Given the description of an element on the screen output the (x, y) to click on. 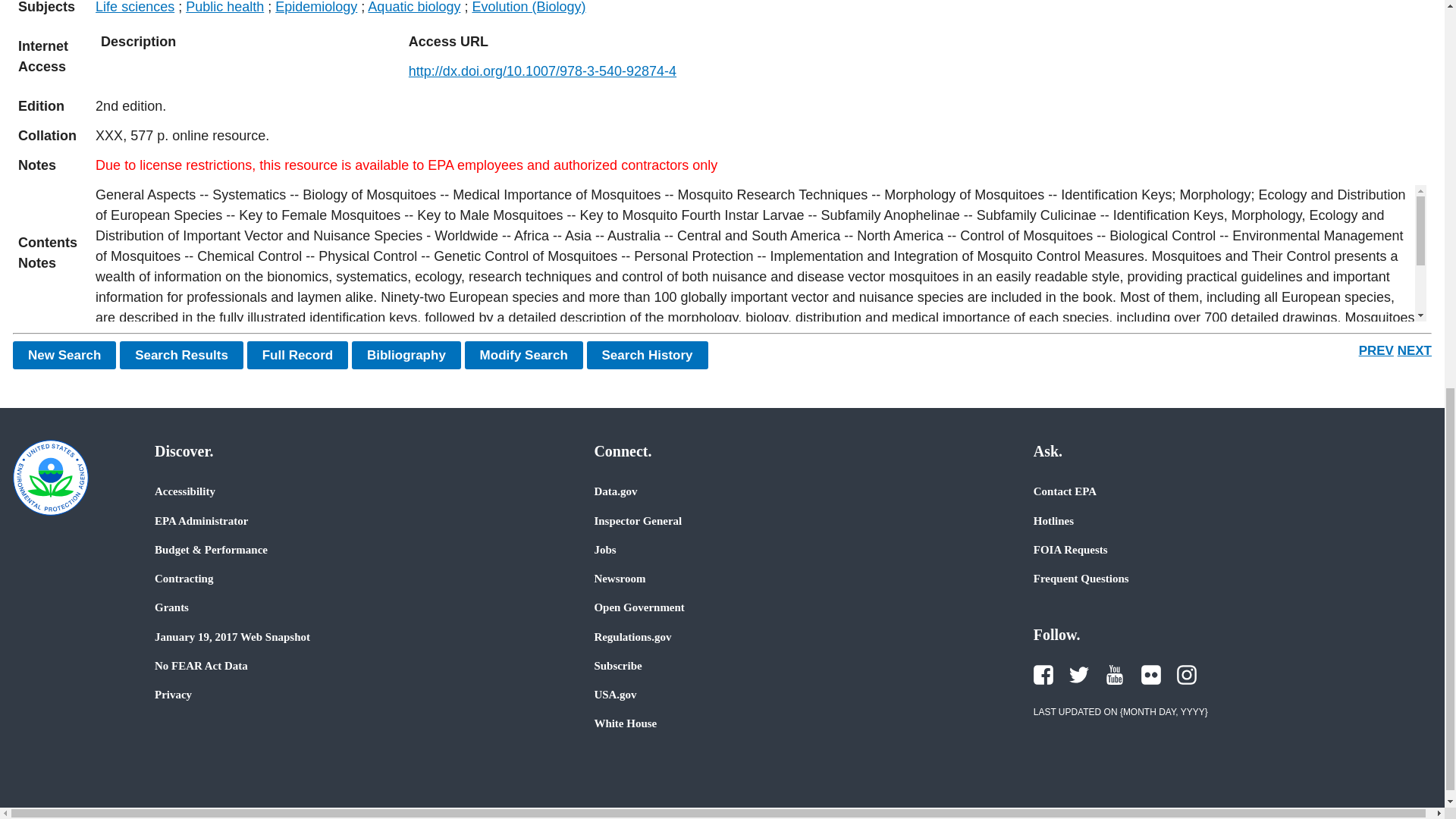
Show results in standard format (181, 355)
Contracting (183, 578)
full length text available by clicking full record (761, 165)
January 19, 2017 Web Snapshot (232, 636)
Bibliography (406, 355)
EPA Administrator (200, 520)
Create a New Search (64, 355)
Aquatic biology (414, 7)
Newsroom (619, 578)
